Given the description of an element on the screen output the (x, y) to click on. 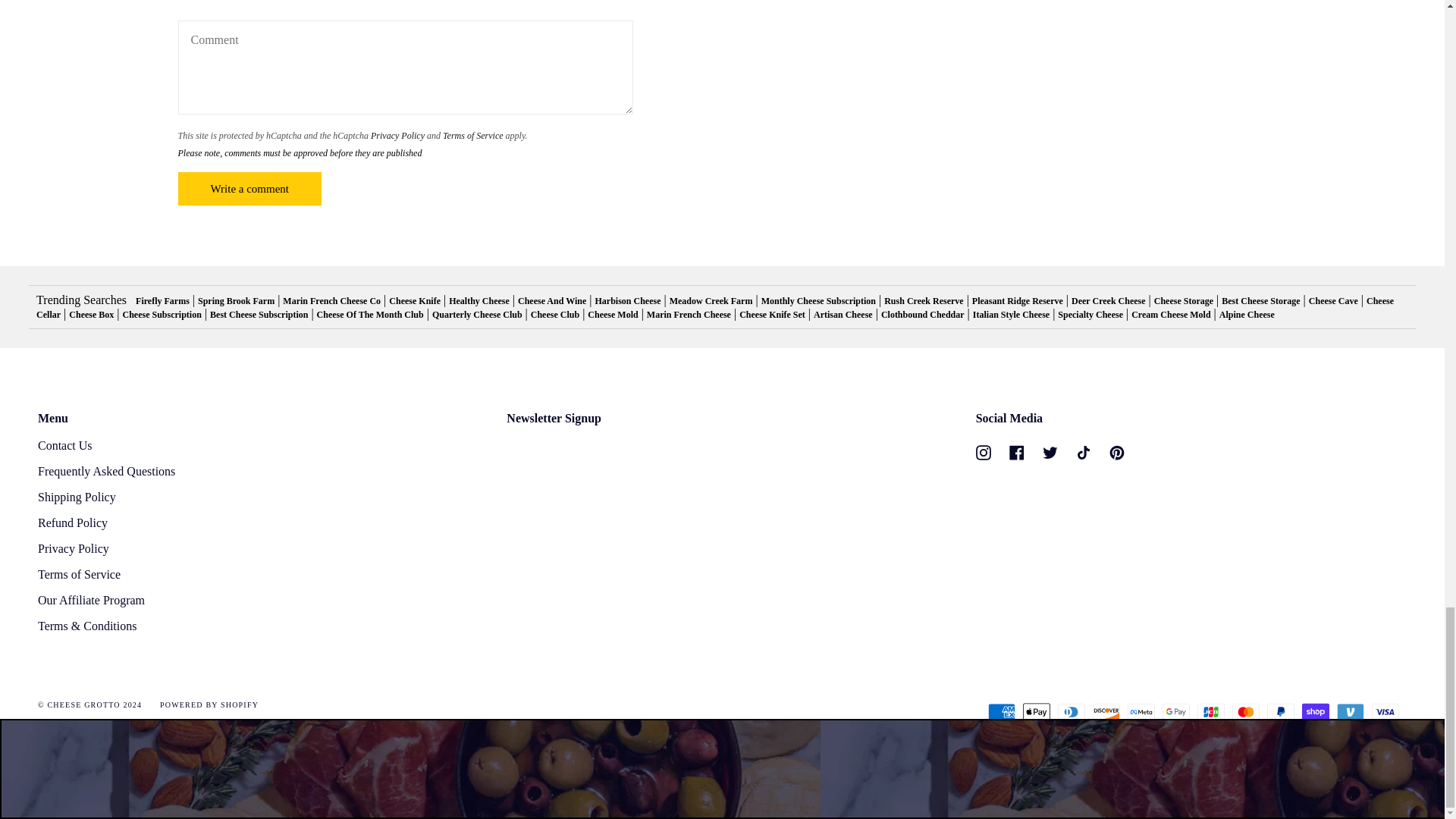
JCB (1210, 711)
Diners Club (1071, 711)
Google Pay (1175, 711)
Meta Pay (1140, 711)
Shop Pay (1315, 711)
Write a comment (249, 188)
Mastercard (1245, 711)
Visa (1385, 711)
Discover (1106, 711)
PayPal (1280, 711)
